Given the description of an element on the screen output the (x, y) to click on. 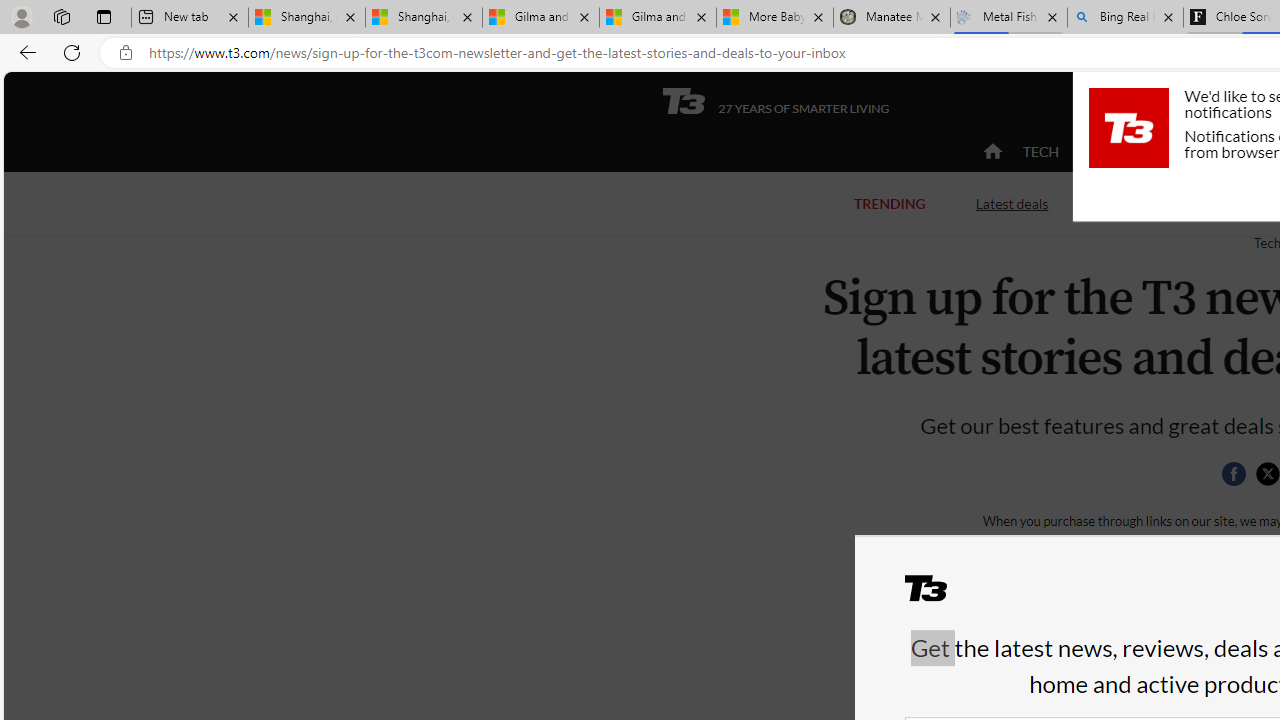
TECH (1040, 151)
TECH (1040, 151)
T3 (937, 595)
Bing Real Estate - Home sales and rental listings (1124, 17)
Share this page on Twitter (1267, 474)
Class: navigation__item (990, 151)
ACTIVE (1124, 151)
home (992, 152)
t3.com Logo (1128, 127)
Latest deals (1011, 204)
T3 27 YEARS OF SMARTER LIVING (775, 101)
